Given the description of an element on the screen output the (x, y) to click on. 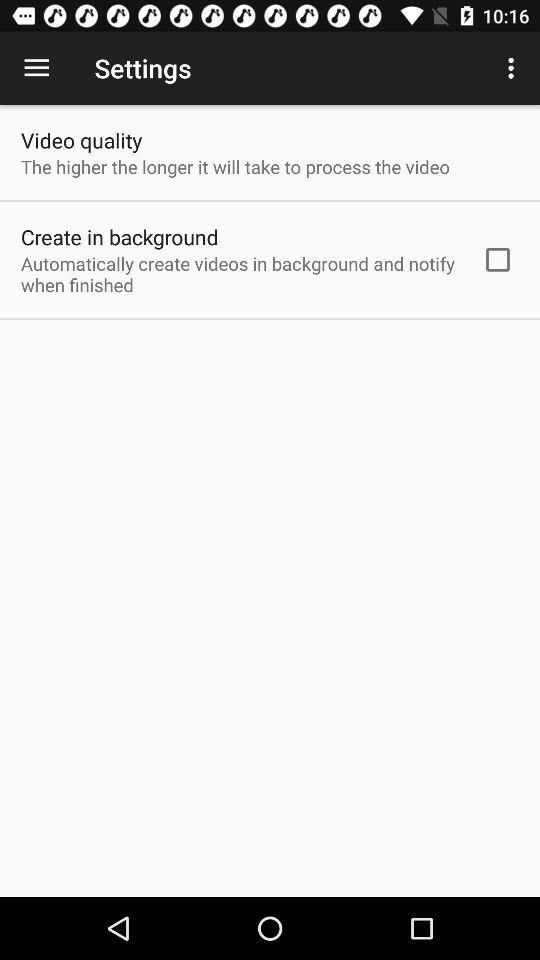
launch item below video quality item (235, 166)
